Given the description of an element on the screen output the (x, y) to click on. 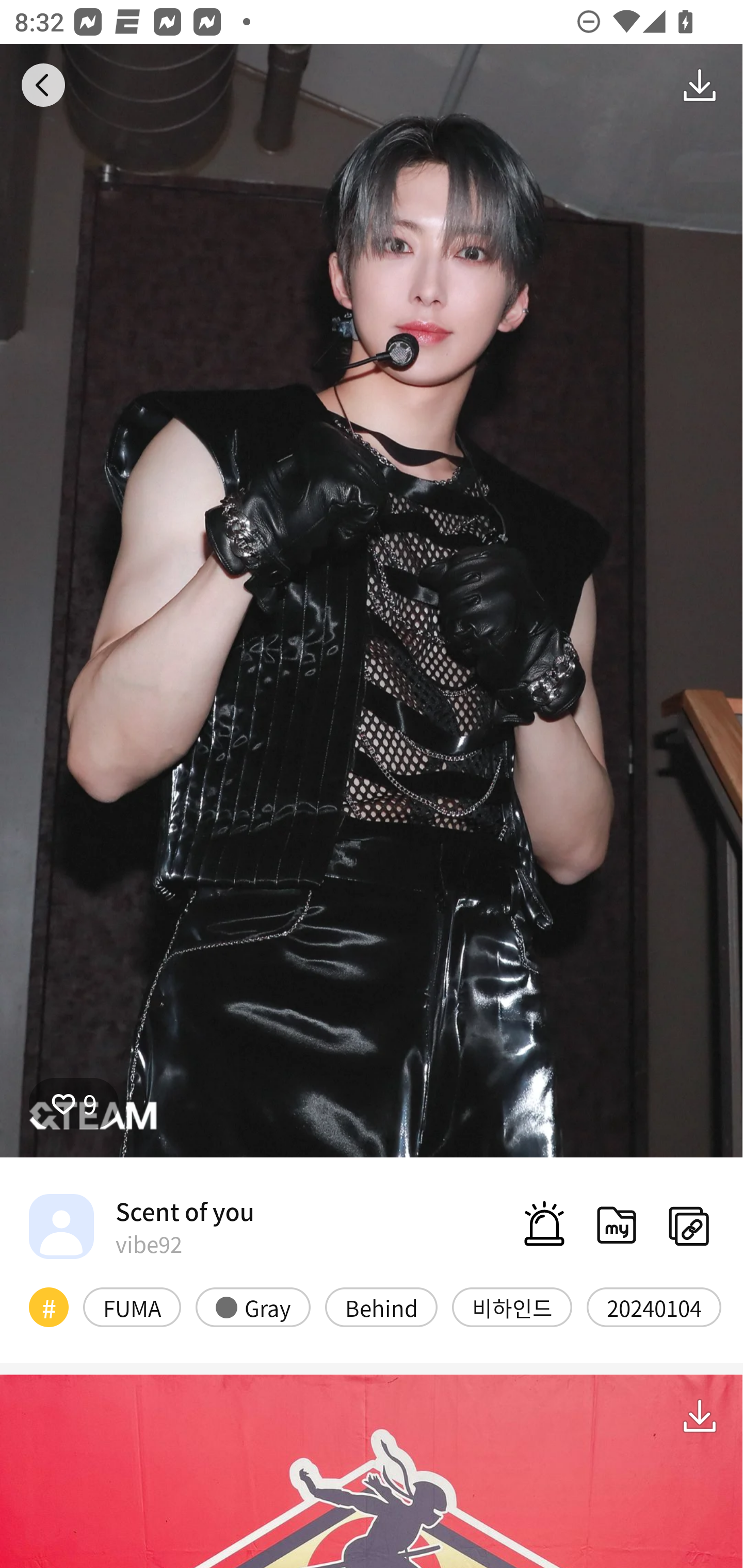
9 (73, 1102)
Scent of you vibe92 (141, 1226)
FUMA (132, 1306)
Gray (252, 1306)
Behind (381, 1306)
비하인드 (511, 1306)
20240104 (653, 1306)
